Given the description of an element on the screen output the (x, y) to click on. 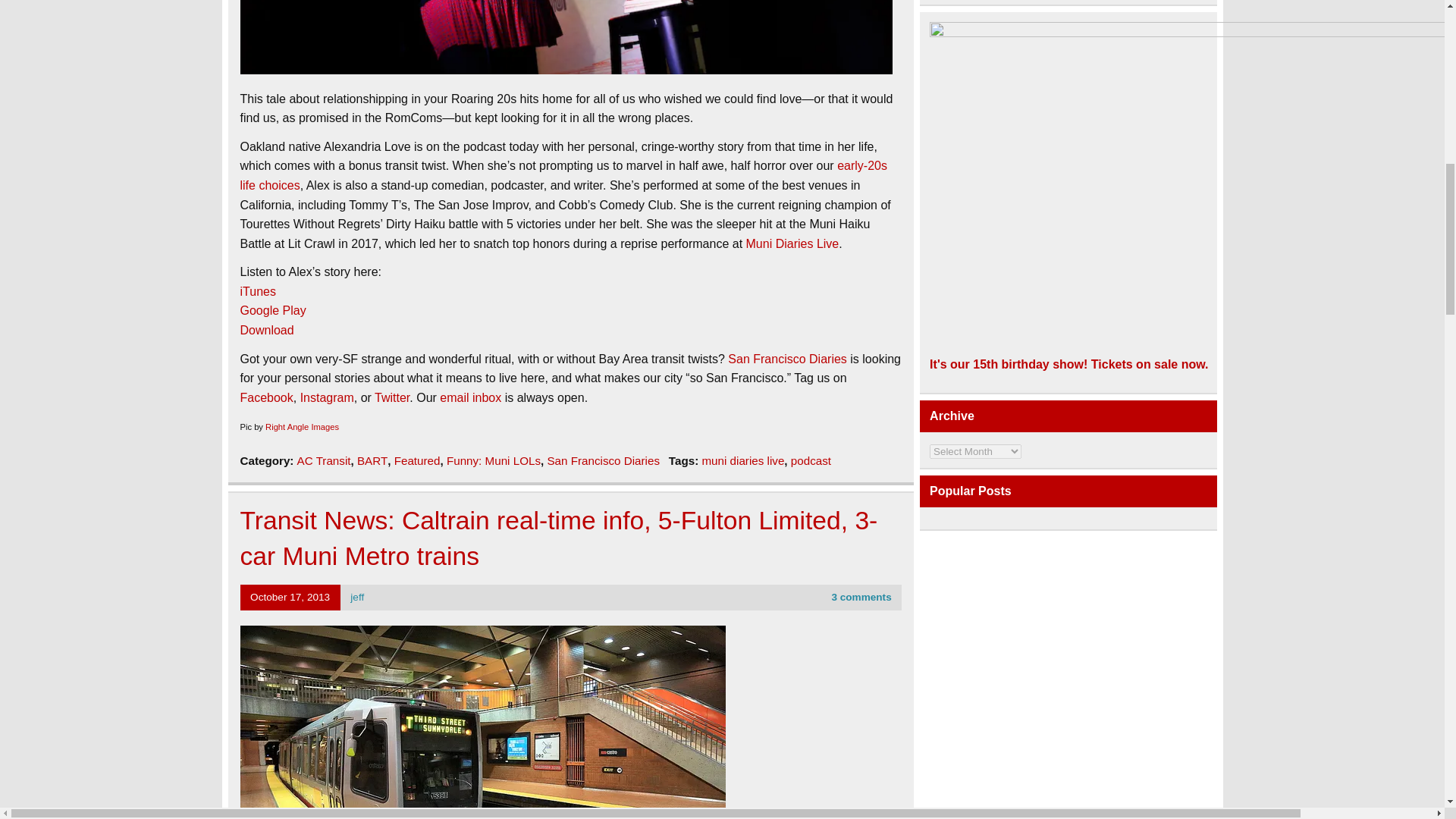
iTunes (257, 291)
San Francisco Diaries (787, 358)
Google Play (272, 309)
Muni Diaries Live (792, 243)
early-20s life choices (563, 174)
View all posts by jeff (357, 596)
Download (267, 329)
11:55 am (290, 596)
